Given the description of an element on the screen output the (x, y) to click on. 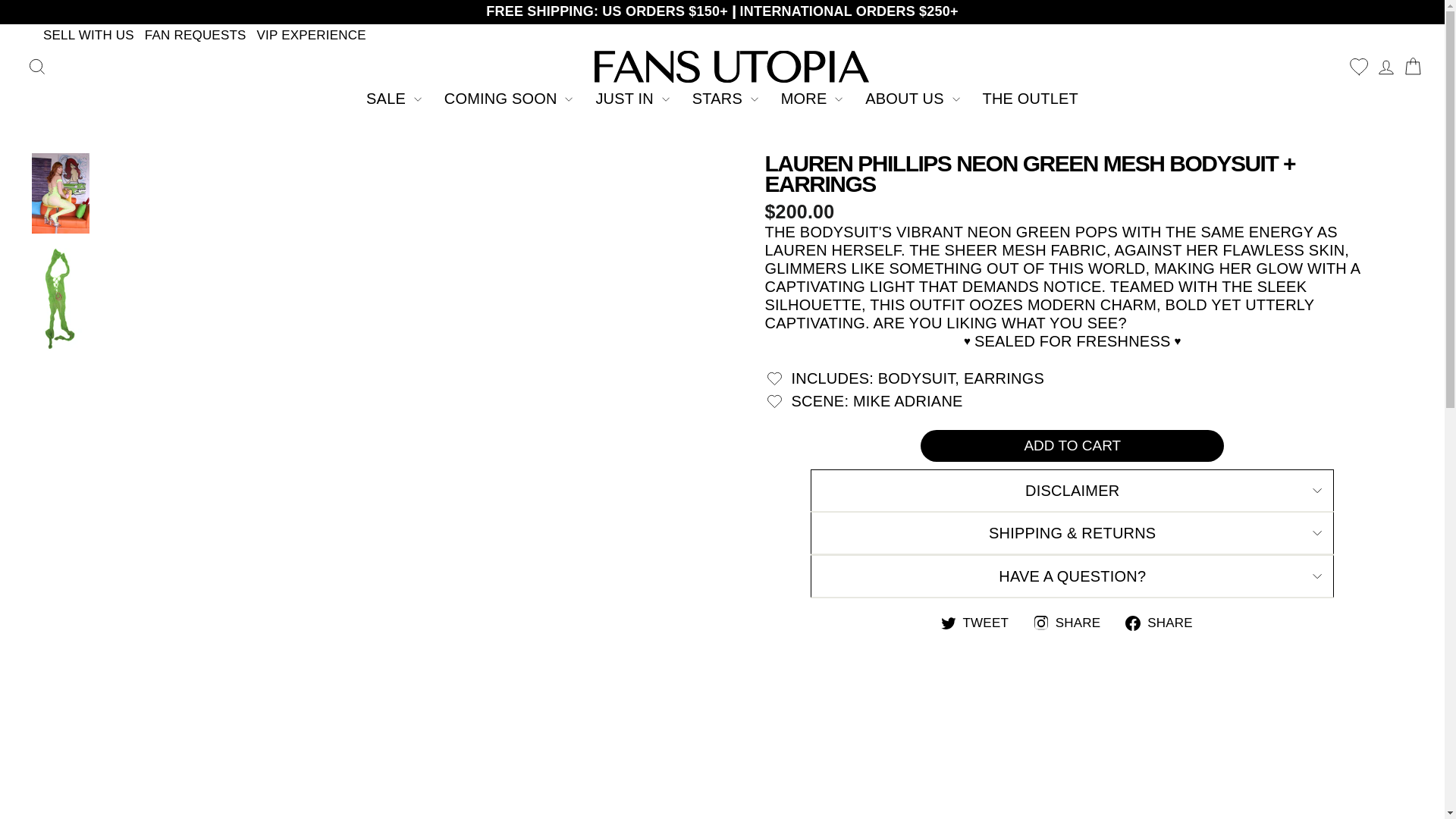
ICON-SEARCH (37, 66)
Share on Instagram (1072, 622)
Tweet on Twitter (980, 622)
TWITTER (948, 622)
Share on Facebook (1164, 622)
ACCOUNT (1385, 66)
